Given the description of an element on the screen output the (x, y) to click on. 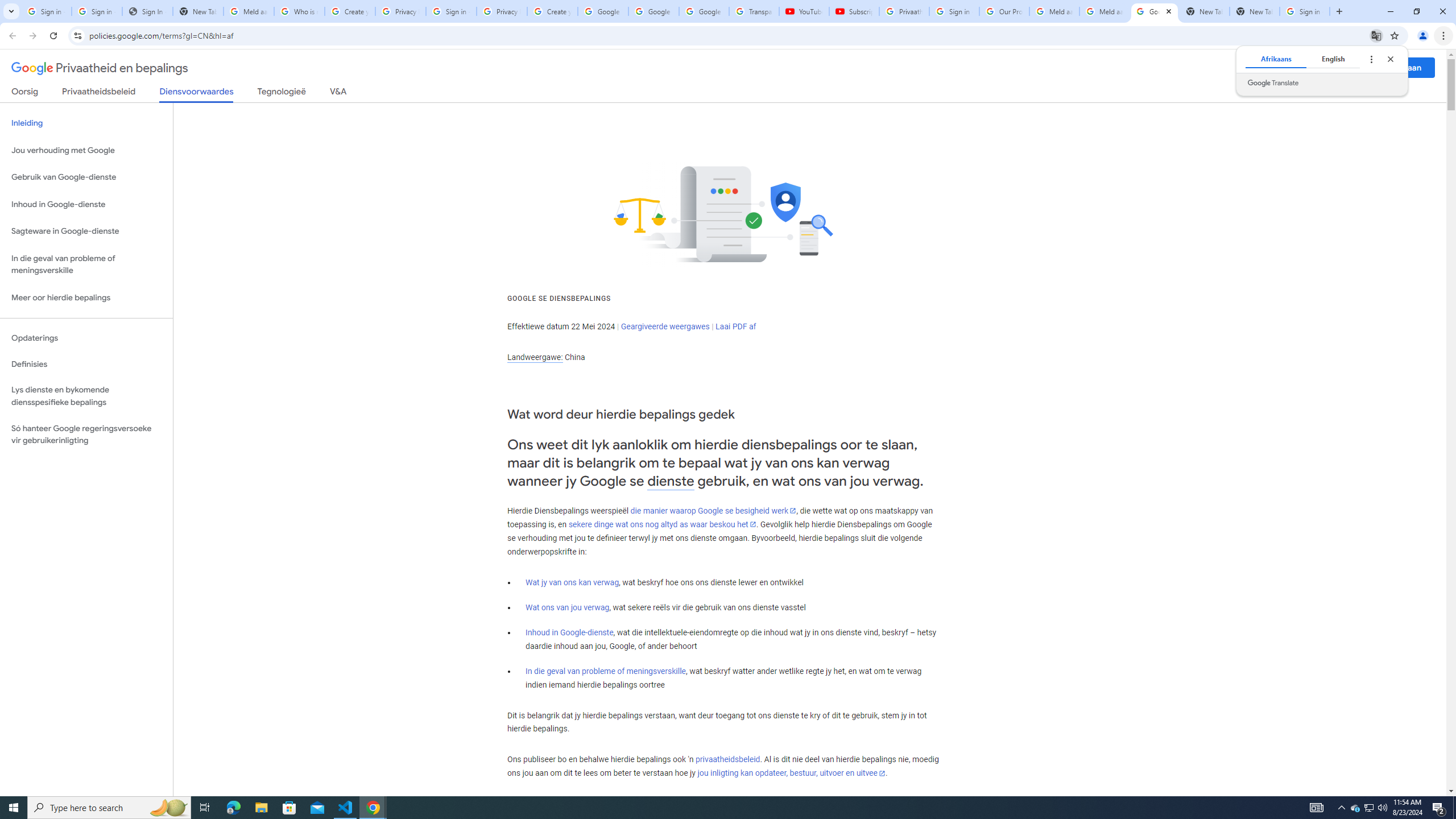
privaatheidsbeleid (727, 759)
Inhoud in Google-dienste (568, 632)
Sign in - Google Accounts (450, 11)
Gebruik van Google-dienste (86, 176)
Meer oor hierdie bepalings (86, 298)
Definisies (86, 363)
jou inligting kan opdateer, bestuur, uitvoer en uitvee (791, 773)
Inleiding (86, 122)
